Given the description of an element on the screen output the (x, y) to click on. 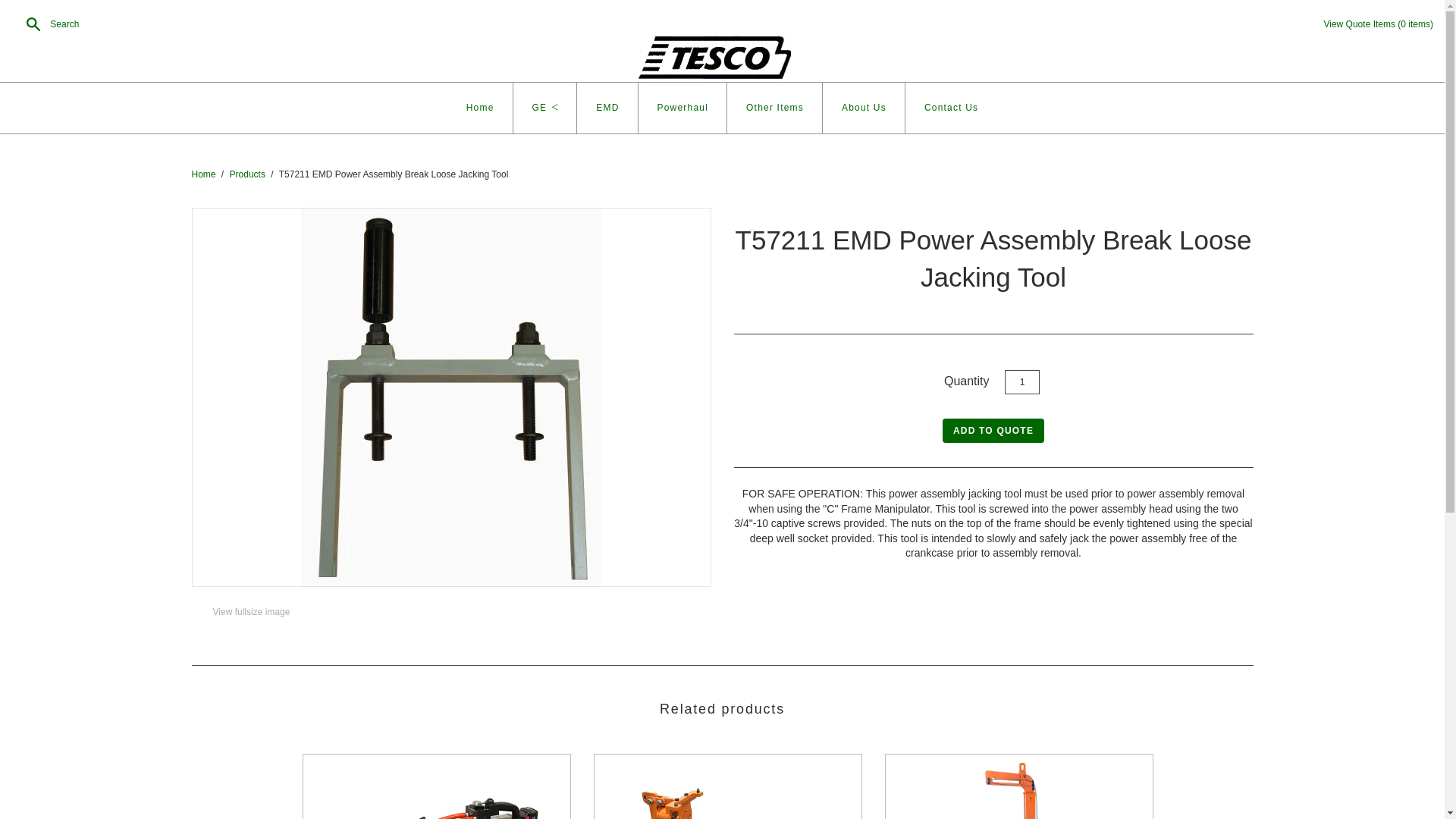
1 (1021, 381)
Home (479, 107)
Powerhaul (683, 107)
Contact Us (951, 107)
Other Items (774, 107)
EMD (606, 107)
Add to quote (992, 430)
About Us (863, 107)
Search (48, 24)
